Given the description of an element on the screen output the (x, y) to click on. 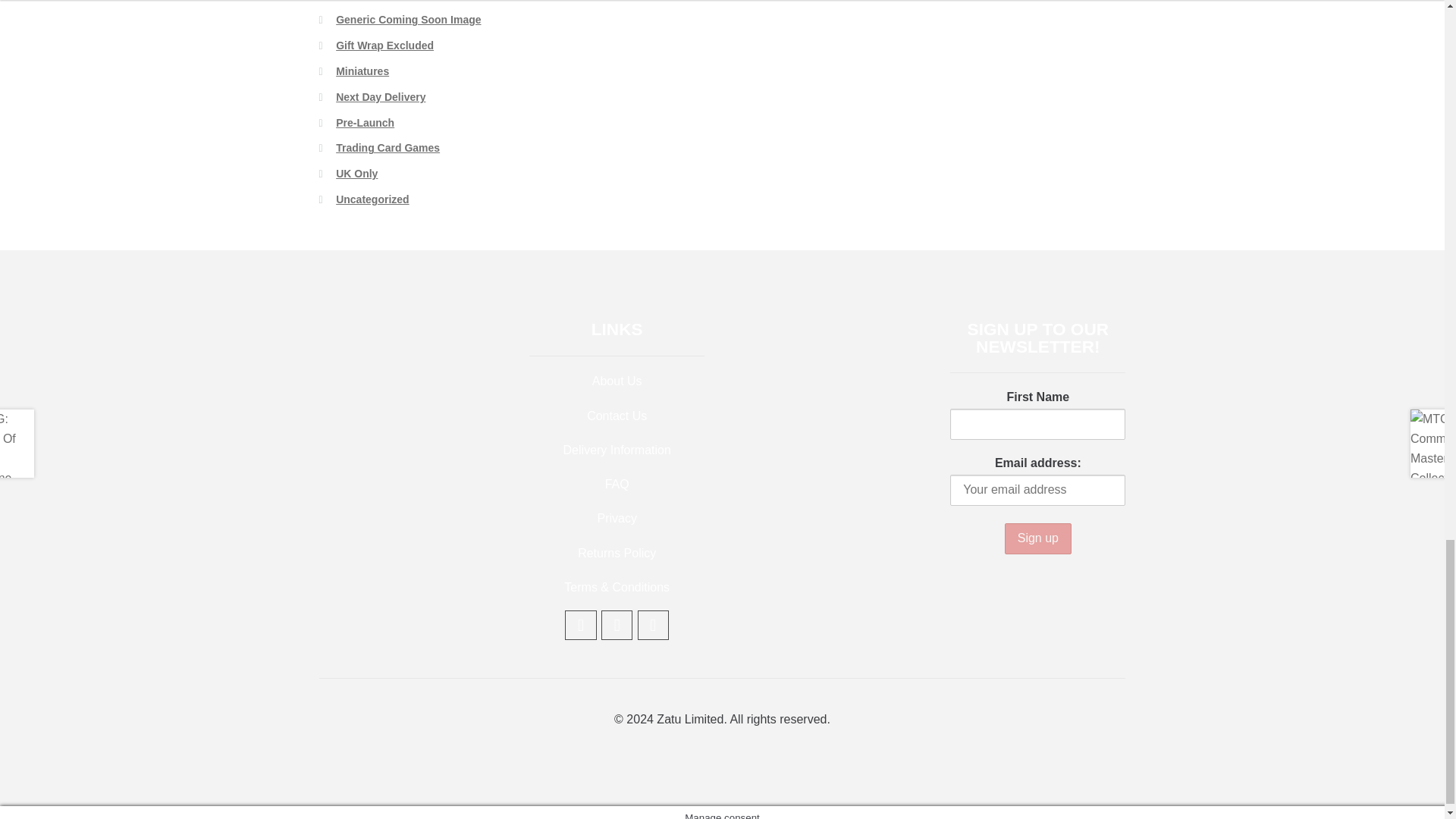
Instagram (653, 624)
Twitter (617, 624)
Sign up (1037, 538)
Youtube (580, 624)
